Given the description of an element on the screen output the (x, y) to click on. 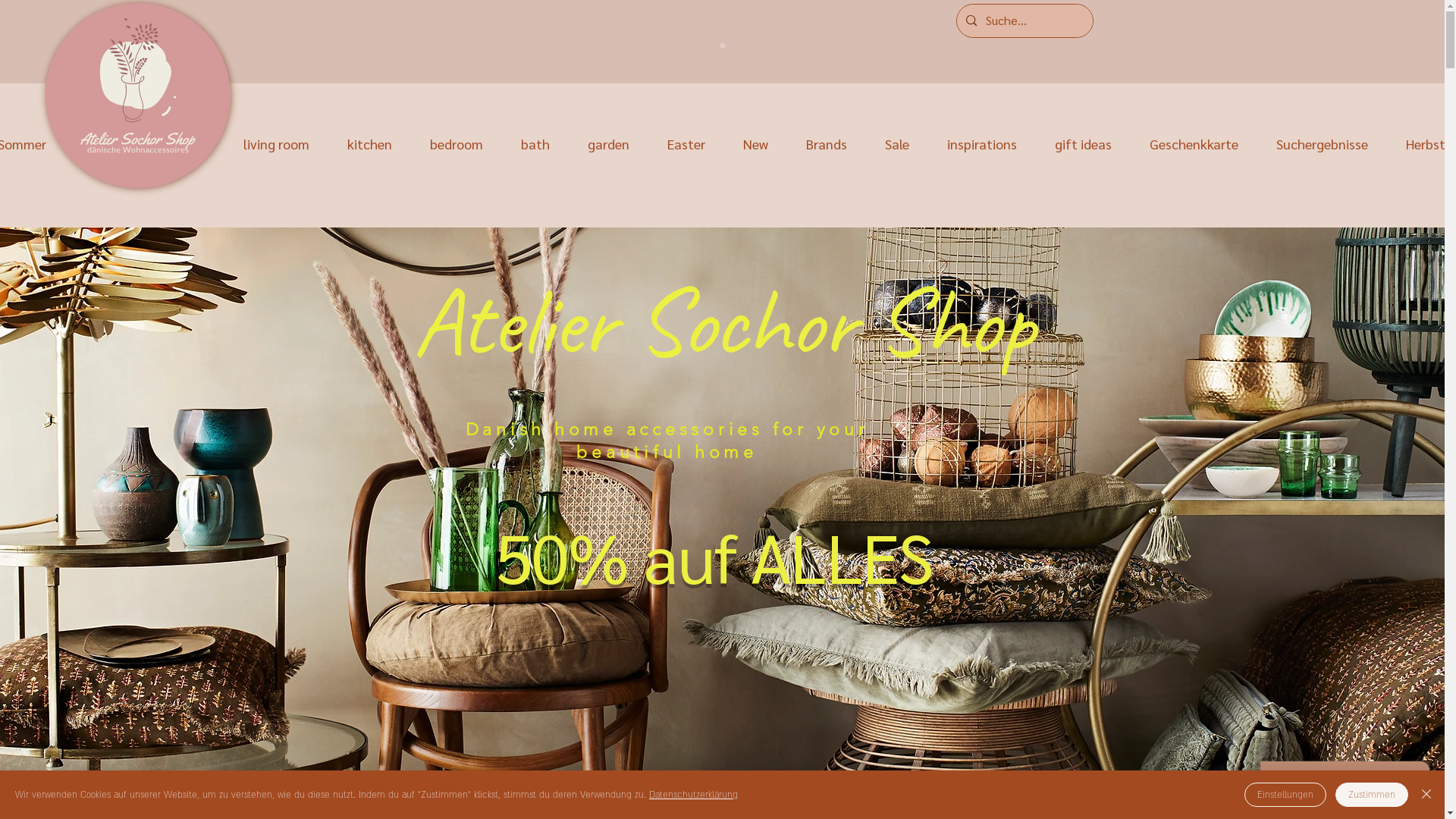
bath Element type: text (534, 144)
living room Element type: text (275, 144)
inspirations Element type: text (981, 144)
Geschenkkarte Element type: text (1194, 144)
Picknick Element type: text (107, 144)
Living Element type: text (187, 144)
kitchen Element type: text (370, 144)
Sale Element type: text (896, 144)
Brands Element type: text (826, 144)
Zustimmen Element type: text (1371, 794)
New Element type: text (755, 144)
Easter Element type: text (686, 144)
Suchergebnisse Element type: text (1321, 144)
Einstellungen Element type: text (1285, 794)
bedroom Element type: text (456, 144)
gift ideas Element type: text (1082, 144)
garden Element type: text (607, 144)
